Given the description of an element on the screen output the (x, y) to click on. 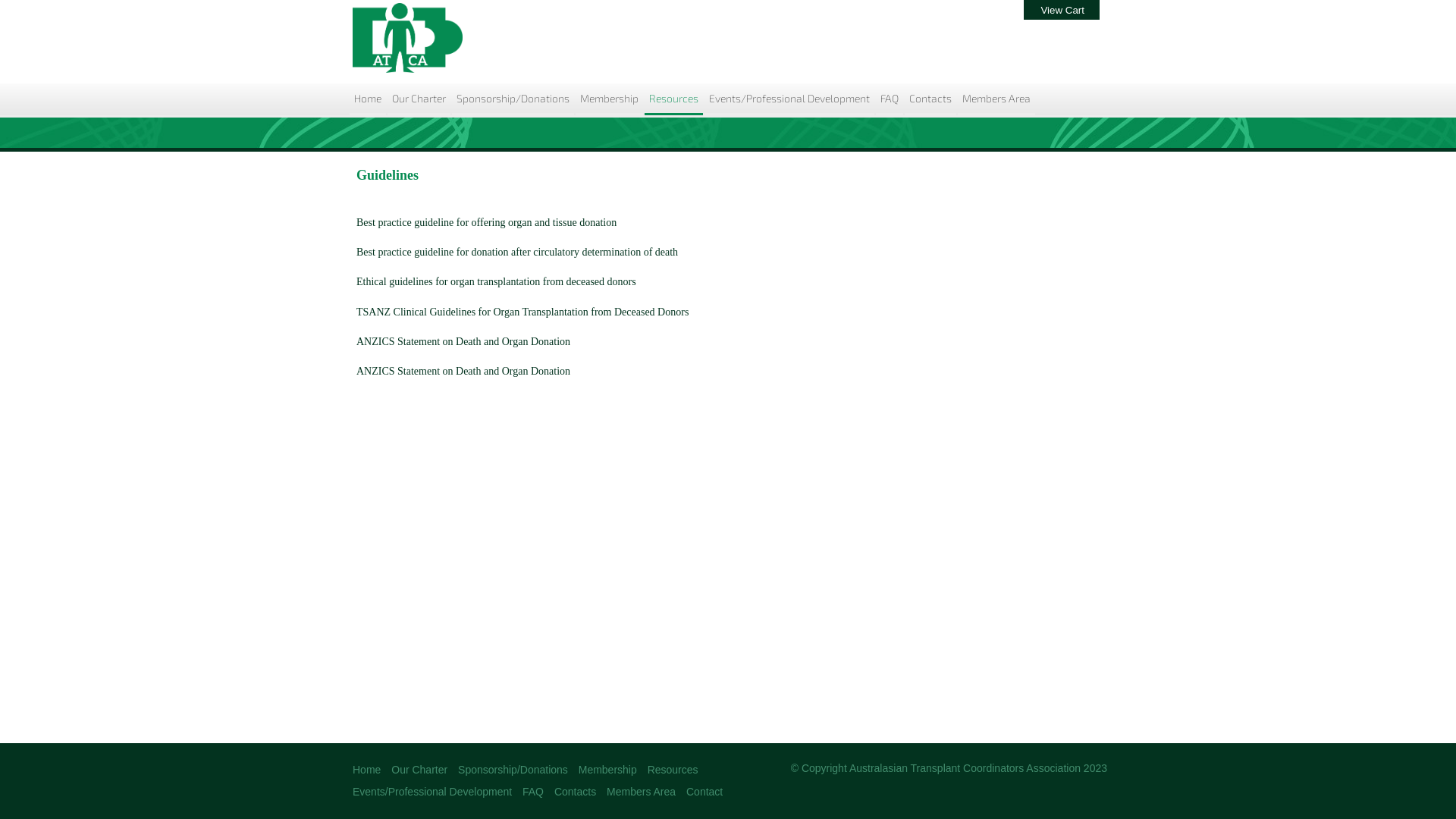
View Cart Element type: text (1061, 9)
Our Charter Element type: text (418, 99)
ANZICS Statement on Death and Organ Donation Element type: text (463, 341)
Events/Professional Development Element type: text (431, 792)
FAQ Element type: text (532, 792)
FAQ Element type: text (889, 99)
Members Area Element type: text (996, 99)
Resources Element type: text (673, 99)
Membership Element type: text (609, 99)
Contact Element type: text (704, 792)
Home Element type: text (367, 99)
Sponsorship/Donations Element type: text (512, 770)
Our Charter Element type: text (419, 770)
Members Area Element type: text (640, 792)
Contacts Element type: text (574, 792)
ANZICS Statement on Death and Organ Donation Element type: text (463, 370)
Home Element type: text (366, 770)
Resources Element type: text (672, 770)
Membership Element type: text (607, 770)
Sponsorship/Donations Element type: text (512, 99)
Events/Professional Development Element type: text (789, 99)
Contacts Element type: text (930, 99)
